Given the description of an element on the screen output the (x, y) to click on. 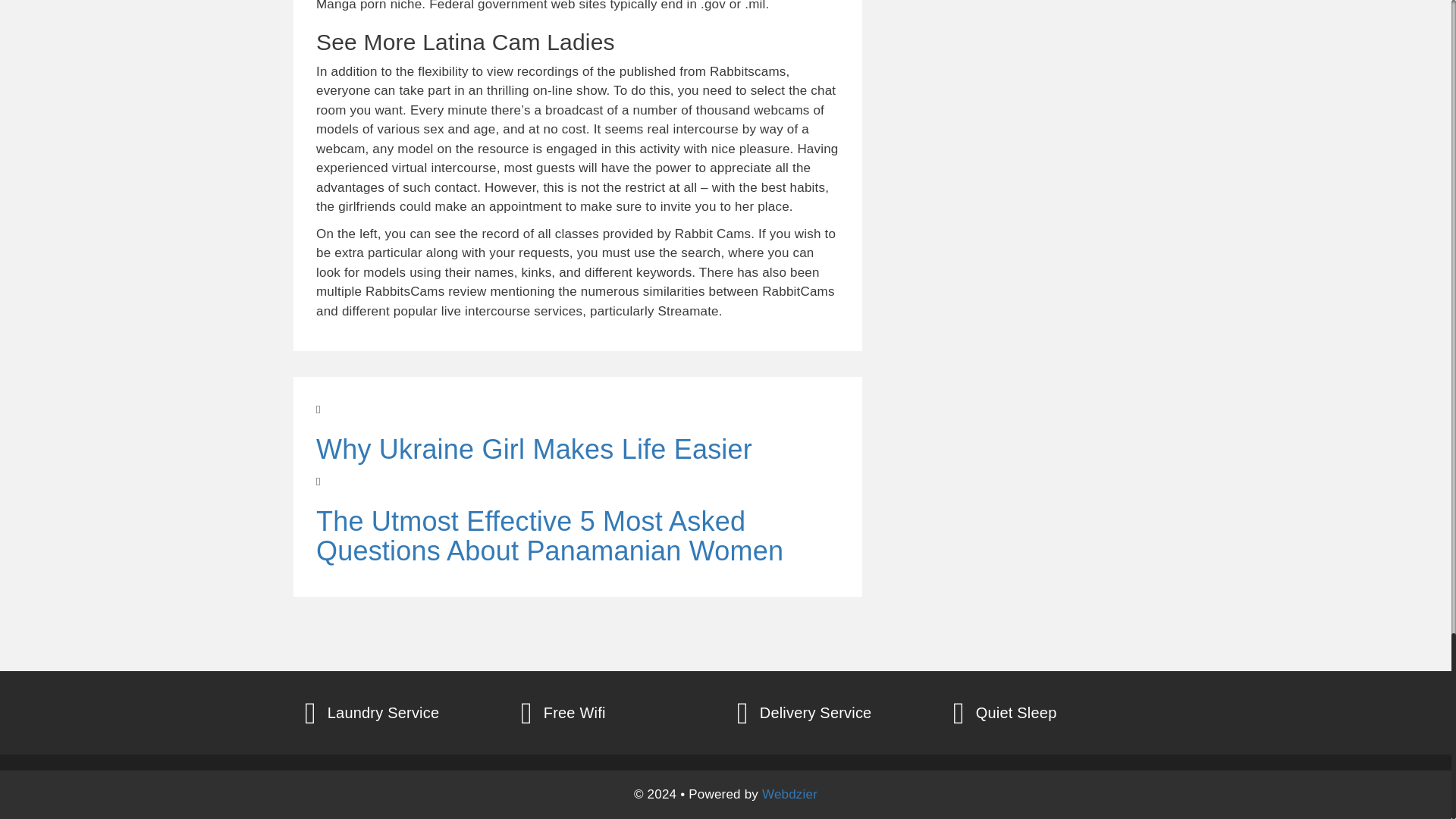
Previous (577, 433)
Why Ukraine Girl Makes Life Easier (577, 465)
Webdzier (788, 794)
Next (577, 520)
